Given the description of an element on the screen output the (x, y) to click on. 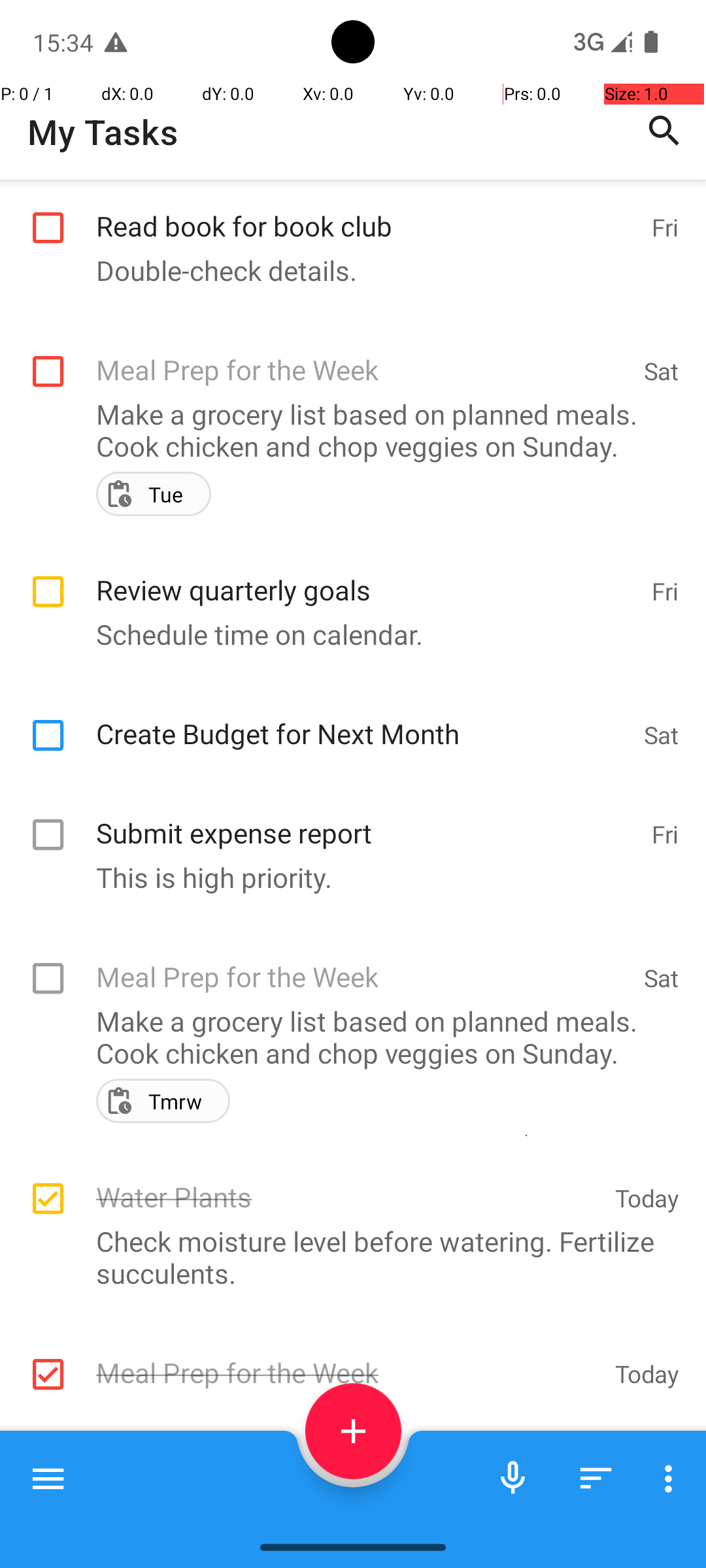
Read book for book club Element type: android.widget.TextView (367, 211)
Double-check details. Element type: android.widget.TextView (346, 269)
Make a grocery list based on planned meals. Cook chicken and chop veggies on Sunday. Element type: android.widget.TextView (346, 429)
Sat Element type: android.widget.TextView (661, 370)
Review quarterly goals Element type: android.widget.TextView (367, 575)
Schedule time on calendar. Element type: android.widget.TextView (346, 633)
Submit expense report Element type: android.widget.TextView (367, 818)
This is high priority. Element type: android.widget.TextView (346, 876)
Check moisture level before watering. Fertilize succulents. Element type: android.widget.TextView (346, 1256)
